Given the description of an element on the screen output the (x, y) to click on. 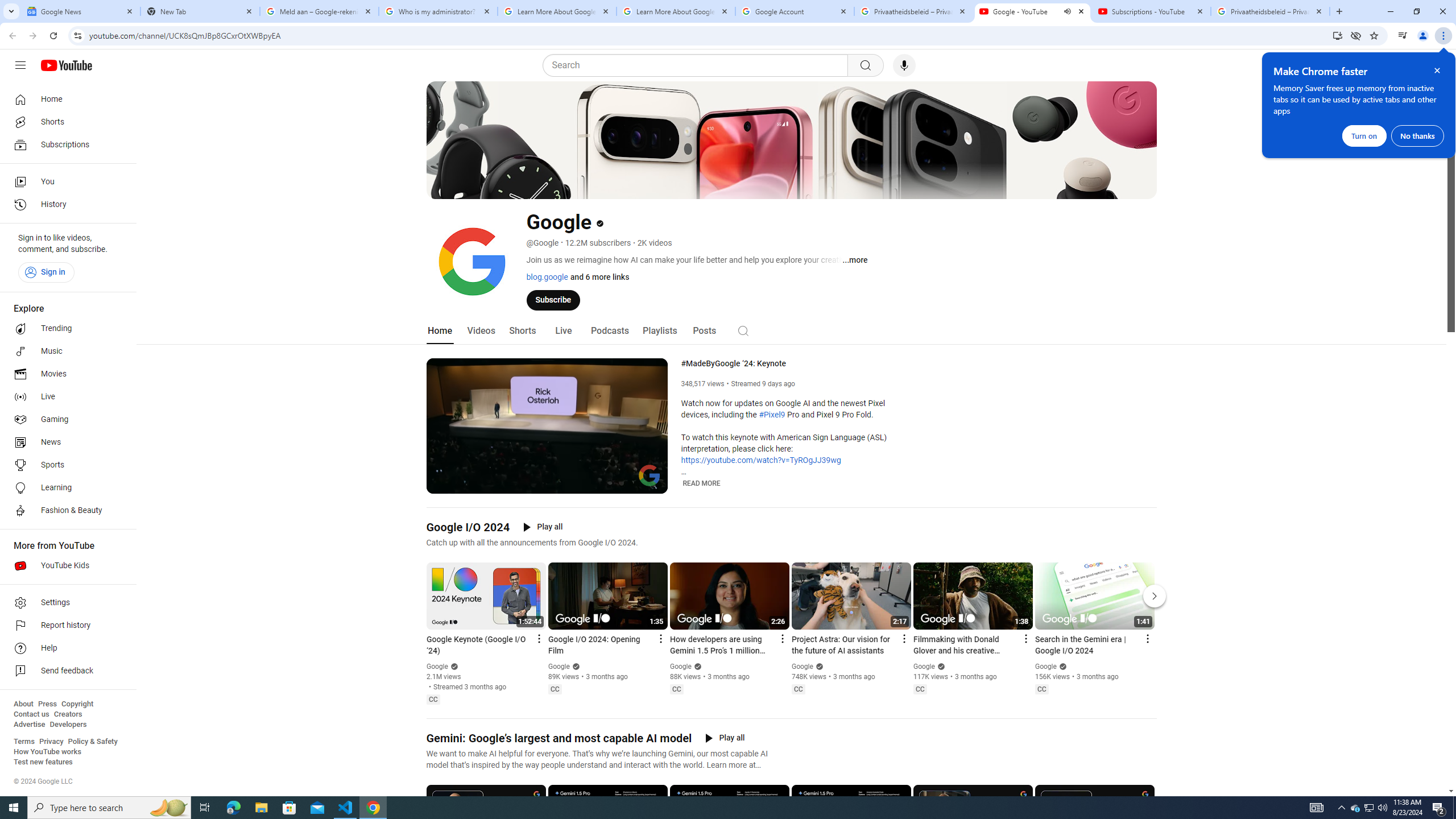
Google - YouTube - Audio playing (1032, 11)
Playlists (659, 330)
Subscriptions (64, 144)
#Pixel9 (771, 414)
Turn on (1364, 135)
YouTube Kids (64, 565)
Music (64, 350)
Podcasts (608, 330)
Movies (64, 373)
No thanks (1417, 135)
Next (1154, 595)
Send feedback (64, 671)
Search with your voice (903, 65)
